Given the description of an element on the screen output the (x, y) to click on. 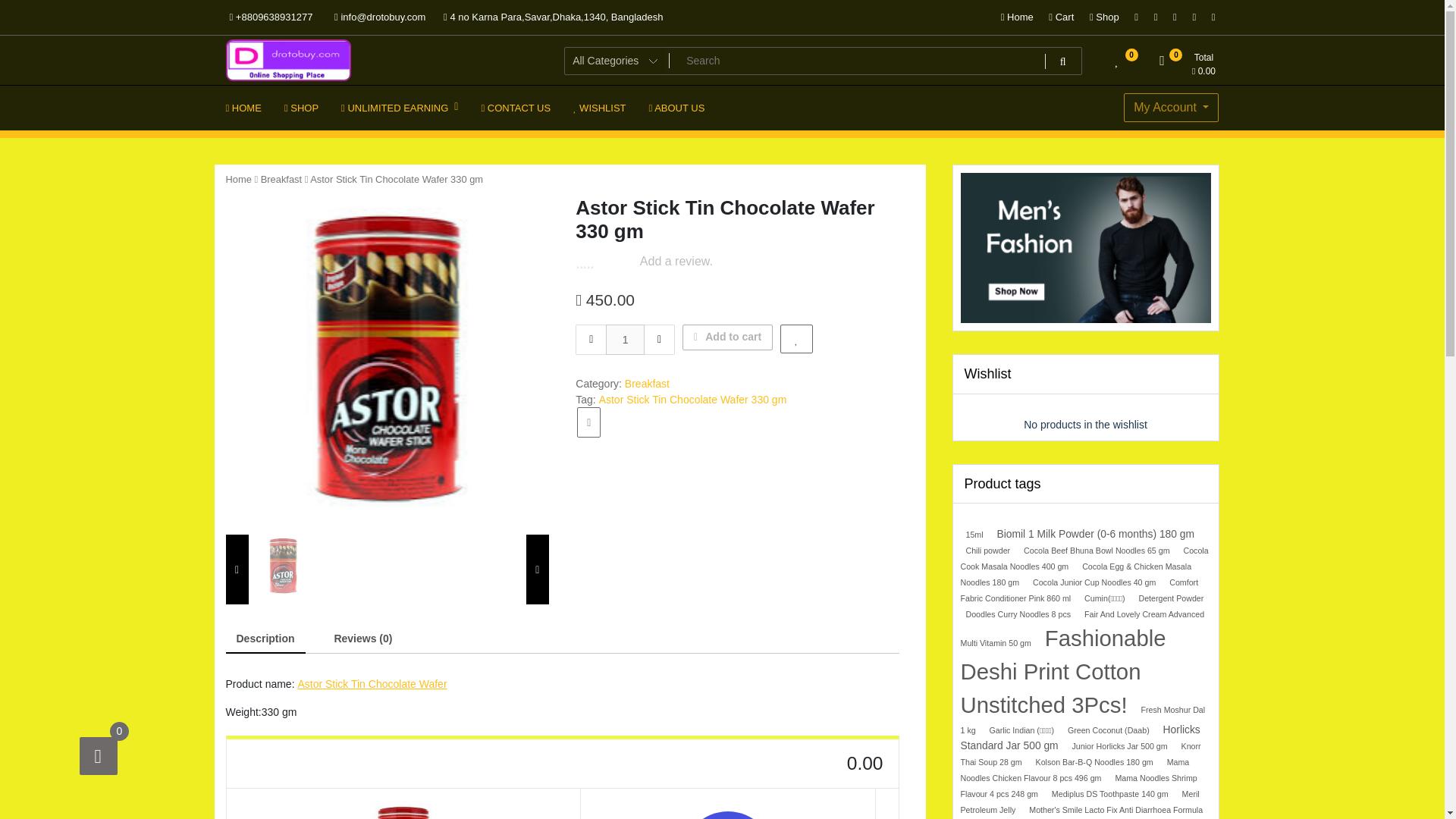
WISHLIST (599, 108)
Cart (1061, 16)
0 (1117, 64)
HOME (243, 108)
Search for: (822, 59)
Add a review. (676, 260)
My Account (1171, 107)
Home (1016, 16)
SHOP (301, 108)
Qty (625, 339)
